Given the description of an element on the screen output the (x, y) to click on. 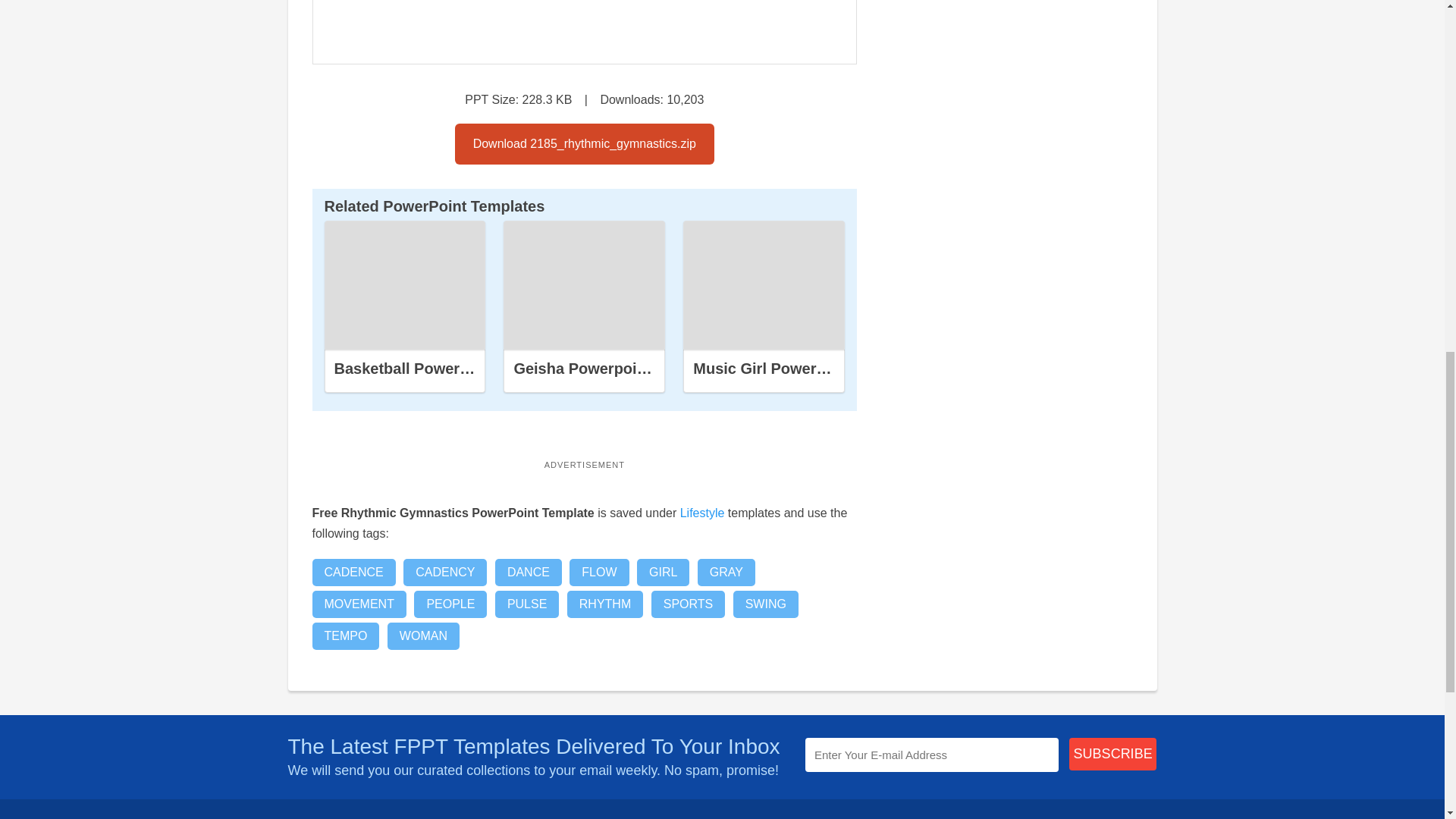
Basketball powerpoint (404, 285)
TEMPO (346, 636)
Music Girl Powerpoint Template (808, 368)
SPORTS (687, 604)
Basketball Powerpoint Template (449, 368)
MOVEMENT (359, 604)
geisha powerpoint template (583, 285)
Music Girl Powerpoint Template (763, 285)
Geisha Powerpoint Template (616, 368)
GRAY (726, 572)
DANCE (528, 572)
FLOW (598, 572)
music girl powerpoint (764, 285)
GIRL (662, 572)
CADENCE (354, 572)
